Given the description of an element on the screen output the (x, y) to click on. 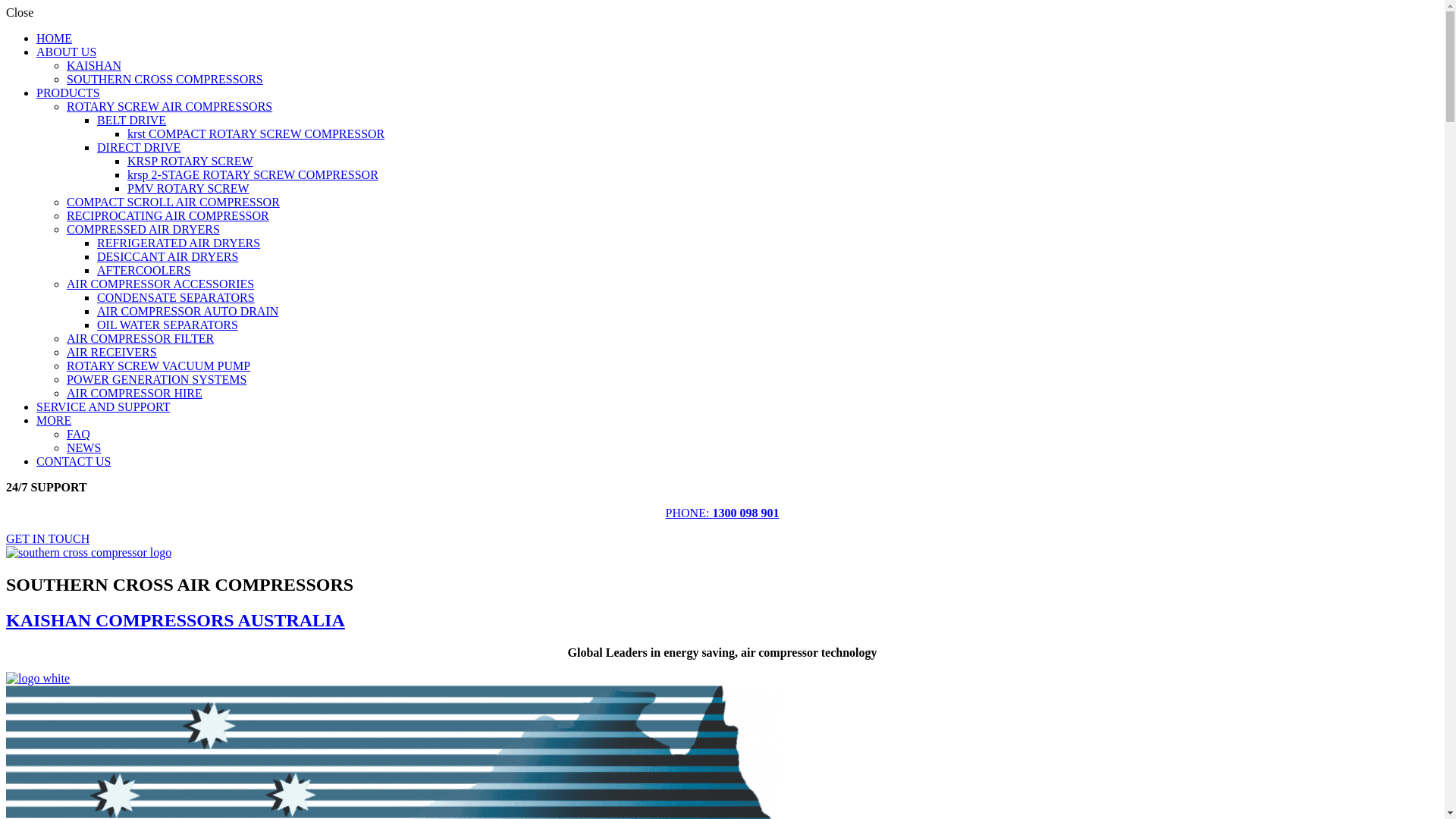
AFTERCOOLERS Element type: text (144, 269)
HOME Element type: text (54, 37)
REFRIGERATED AIR DRYERS Element type: text (178, 242)
krst COMPACT ROTARY SCREW COMPRESSOR Element type: text (255, 133)
NEWS Element type: text (83, 447)
OIL WATER SEPARATORS Element type: text (167, 324)
SERVICE AND SUPPORT Element type: text (102, 406)
KRSP ROTARY SCREW Element type: text (190, 160)
krsp 2-STAGE ROTARY SCREW COMPRESSOR Element type: text (252, 174)
ABOUT US Element type: text (66, 51)
PRODUCTS Element type: text (68, 92)
GET IN TOUCH Element type: text (47, 538)
ROTARY SCREW AIR COMPRESSORS Element type: text (169, 106)
DESICCANT AIR DRYERS Element type: text (167, 256)
KAISHAN Element type: text (93, 65)
COMPACT SCROLL AIR COMPRESSOR Element type: text (172, 201)
AIR COMPRESSOR HIRE Element type: text (134, 392)
ROTARY SCREW VACUUM PUMP Element type: text (158, 365)
Close Element type: text (19, 12)
POWER GENERATION SYSTEMS Element type: text (156, 379)
MORE Element type: text (53, 420)
CONDENSATE SEPARATORS Element type: text (175, 297)
AIR COMPRESSOR ACCESSORIES Element type: text (160, 283)
DIRECT DRIVE Element type: text (138, 147)
FAQ Element type: text (78, 433)
AIR RECEIVERS Element type: text (111, 351)
AIR COMPRESSOR FILTER Element type: text (139, 338)
RECIPROCATING AIR COMPRESSOR Element type: text (167, 215)
SOUTHERN CROSS COMPRESSORS Element type: text (164, 78)
KAISHAN COMPRESSORS AUSTRALIA Element type: text (175, 620)
AIR COMPRESSOR AUTO DRAIN Element type: text (187, 310)
BELT DRIVE Element type: text (131, 119)
PMV ROTARY SCREW Element type: text (188, 188)
COMPRESSED AIR DRYERS Element type: text (142, 228)
PHONE: 1300 098 901 Element type: text (722, 512)
CONTACT US Element type: text (73, 461)
